Given the description of an element on the screen output the (x, y) to click on. 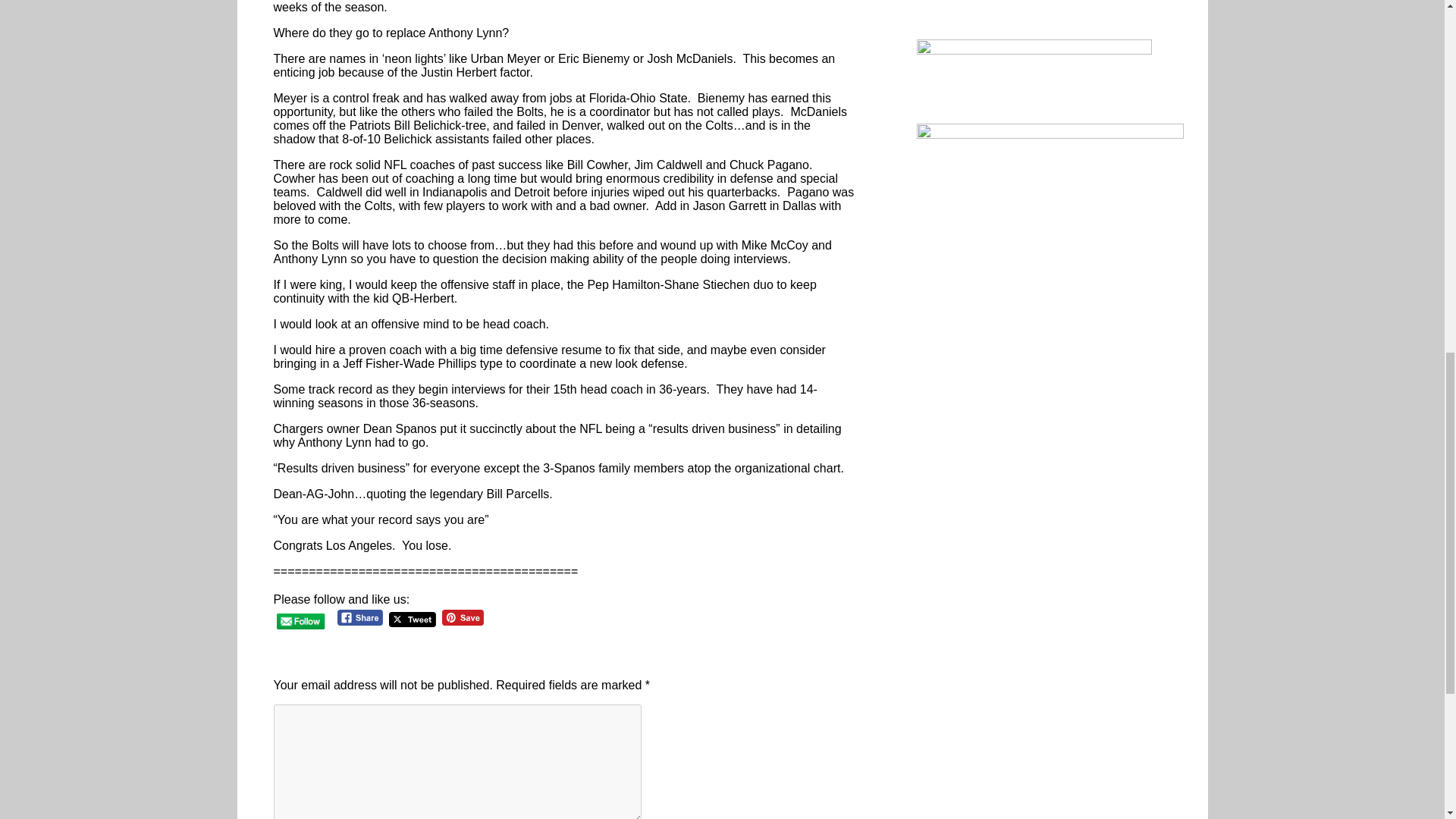
Pin Share (462, 617)
Tweet (411, 619)
Facebook Share (360, 617)
